Given the description of an element on the screen output the (x, y) to click on. 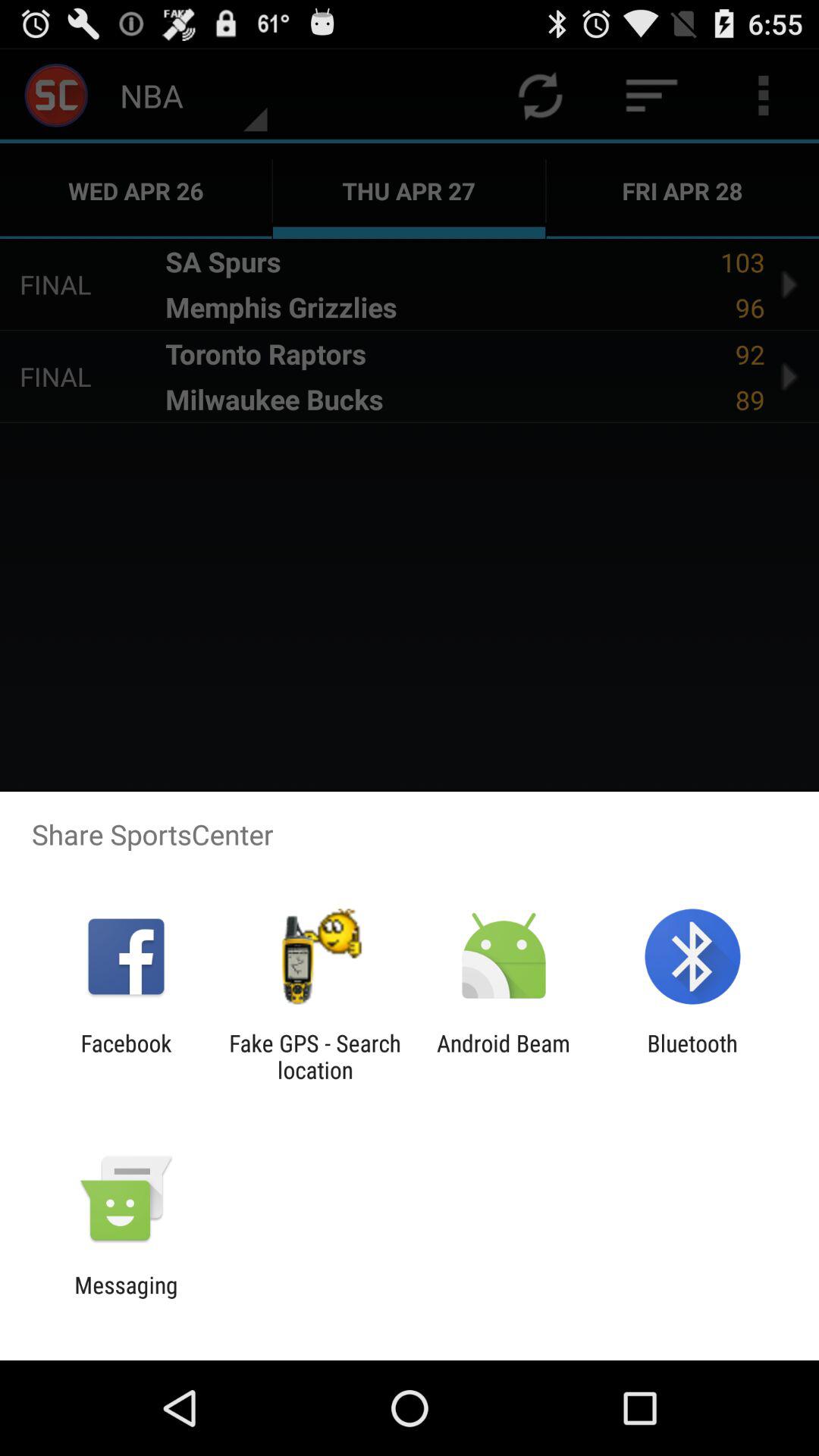
tap icon to the left of the fake gps search app (125, 1056)
